Given the description of an element on the screen output the (x, y) to click on. 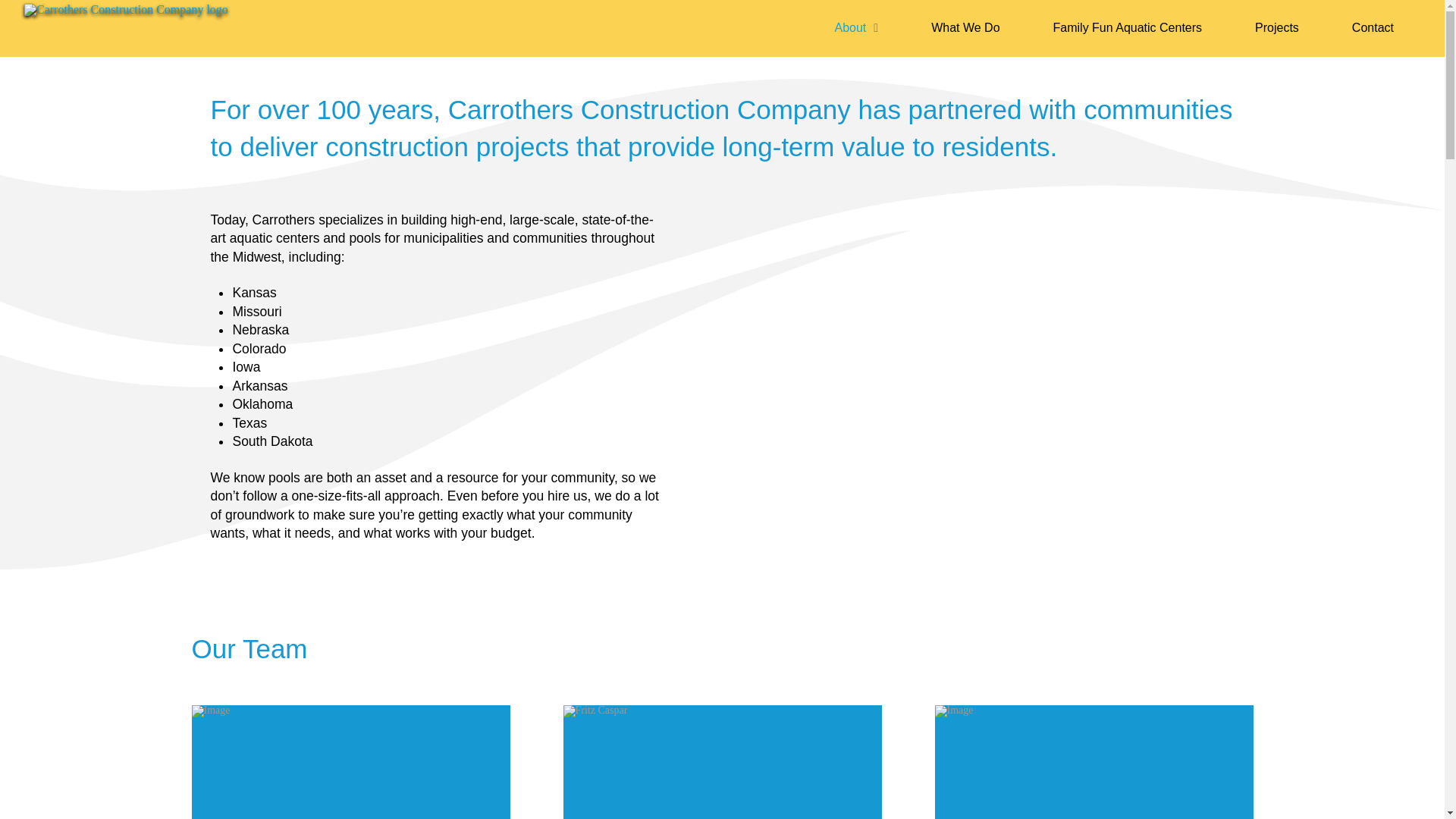
Contact (1372, 27)
Family Fun Aquatic Centers (1128, 27)
About (855, 27)
Projects (1276, 27)
What We Do (965, 27)
